Given the description of an element on the screen output the (x, y) to click on. 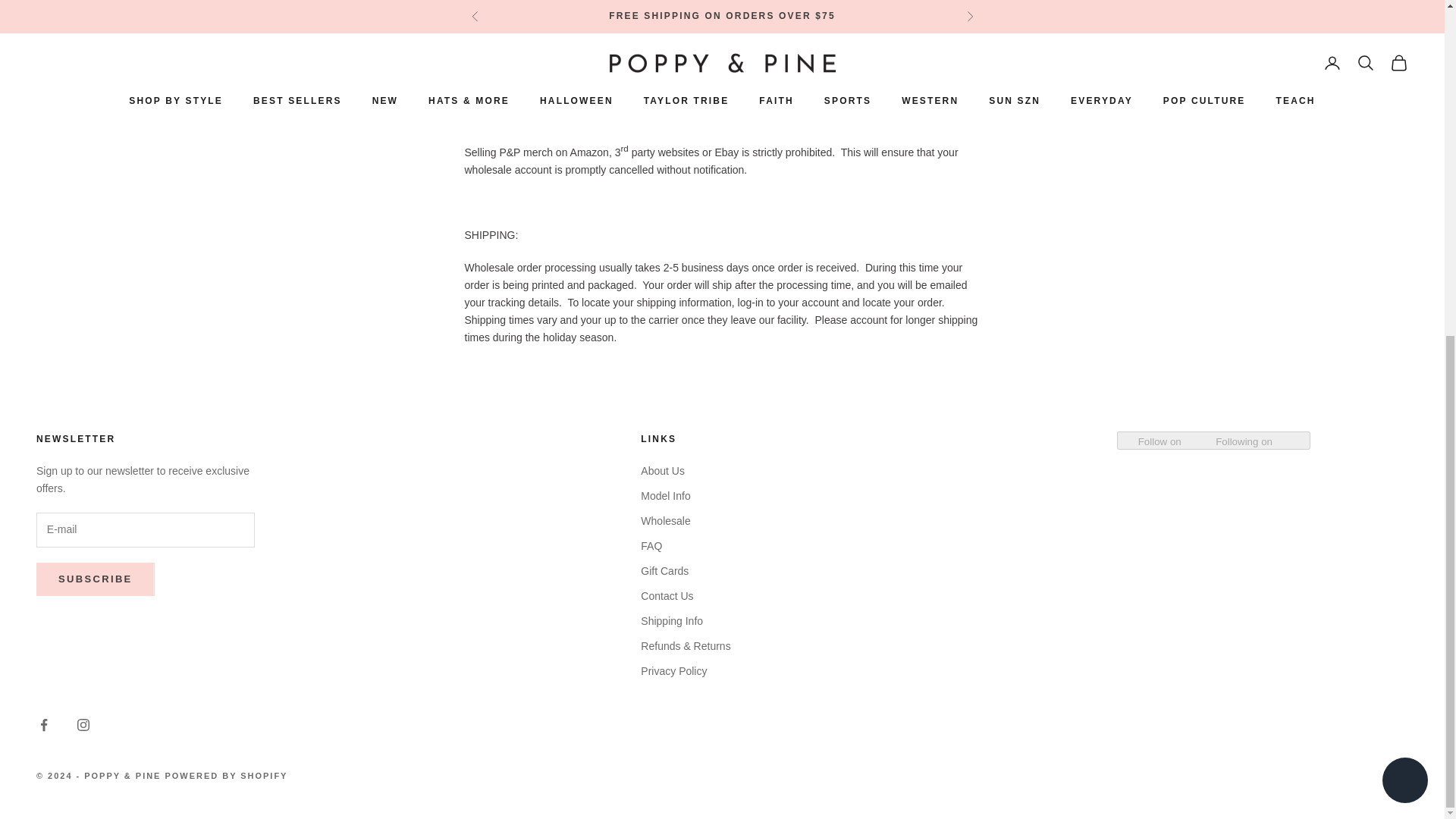
Shopify online store chat (1404, 219)
